Given the description of an element on the screen output the (x, y) to click on. 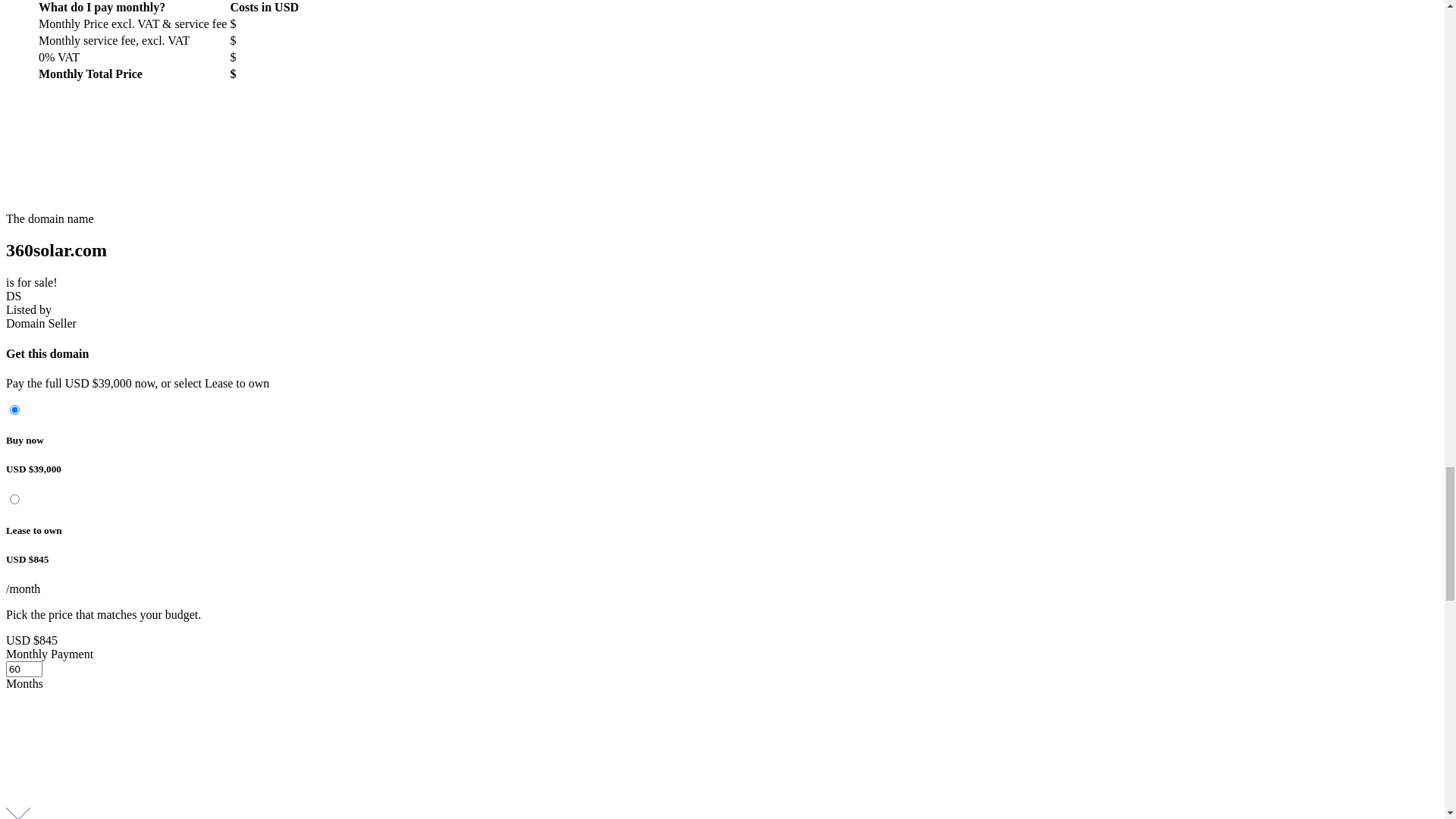
Excellent 4.4 out of 5 Element type: text (722, 31)
Trust and Security Element type: text (844, 103)
